Given the description of an element on the screen output the (x, y) to click on. 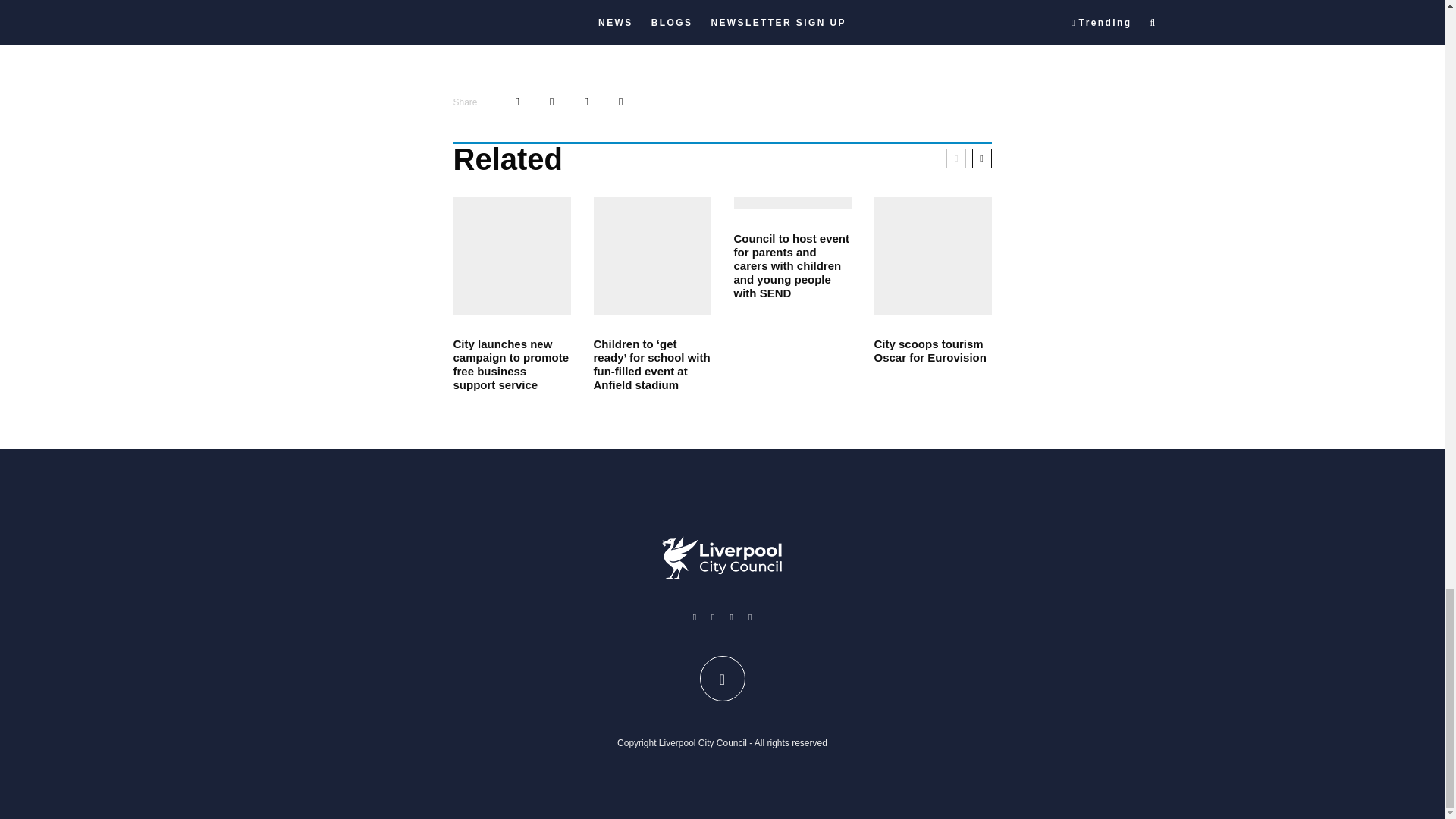
City scoops tourism Oscar for Eurovision (932, 350)
